Given the description of an element on the screen output the (x, y) to click on. 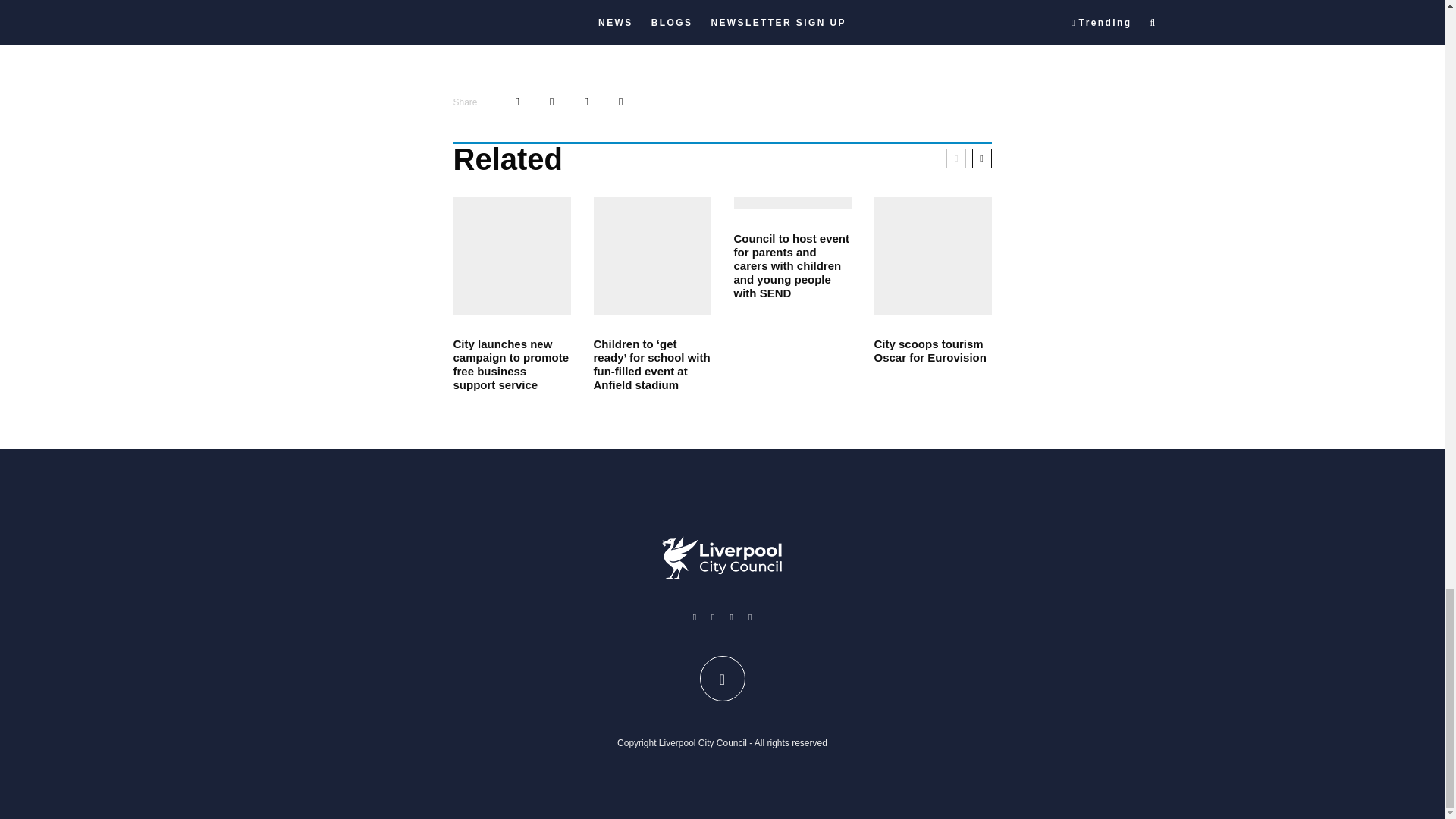
City scoops tourism Oscar for Eurovision (932, 350)
